Given the description of an element on the screen output the (x, y) to click on. 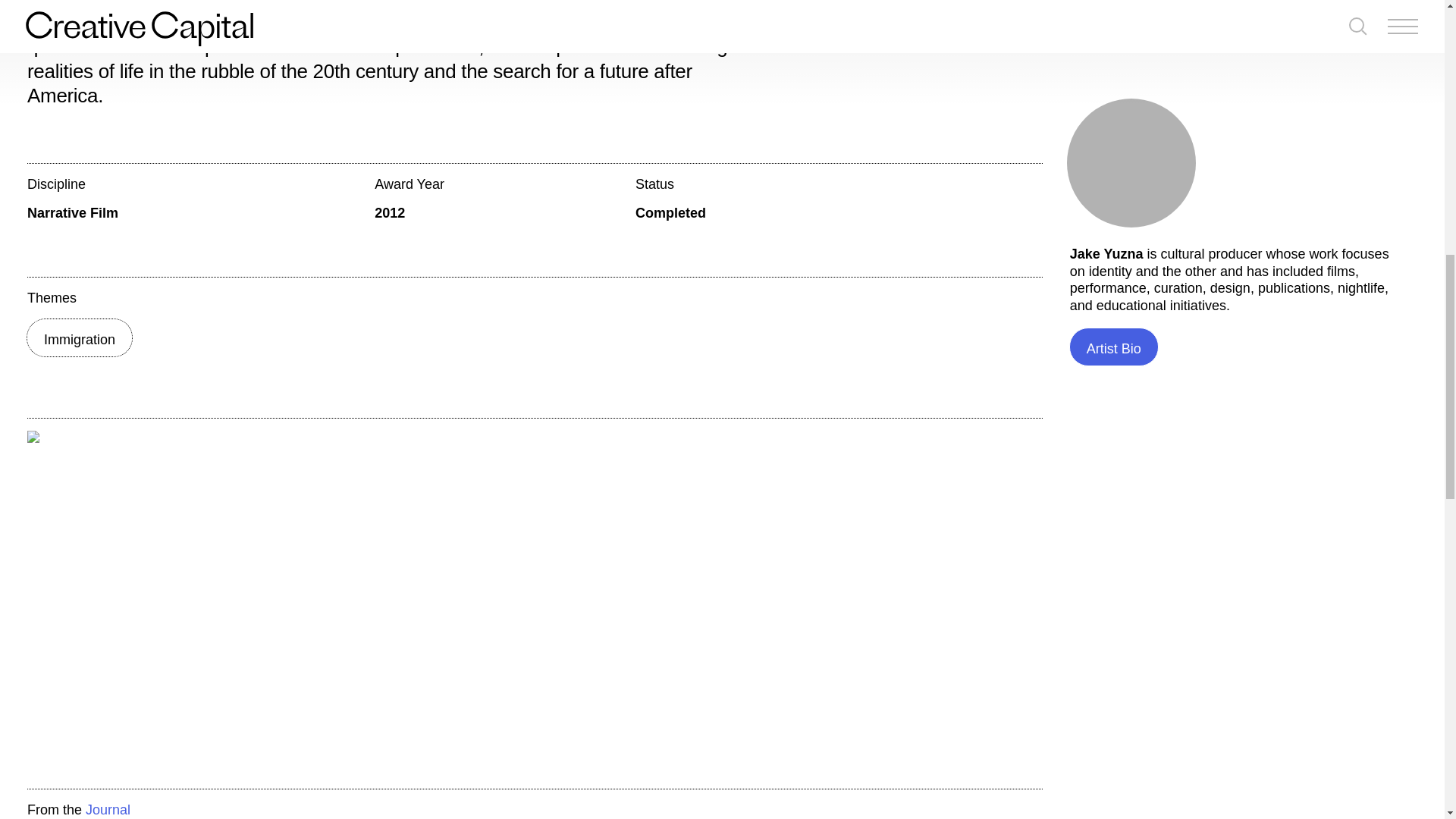
Narrative Film (72, 212)
Artist Bio (1113, 134)
2012 (389, 212)
Immigration (79, 337)
Journal (108, 809)
